Given the description of an element on the screen output the (x, y) to click on. 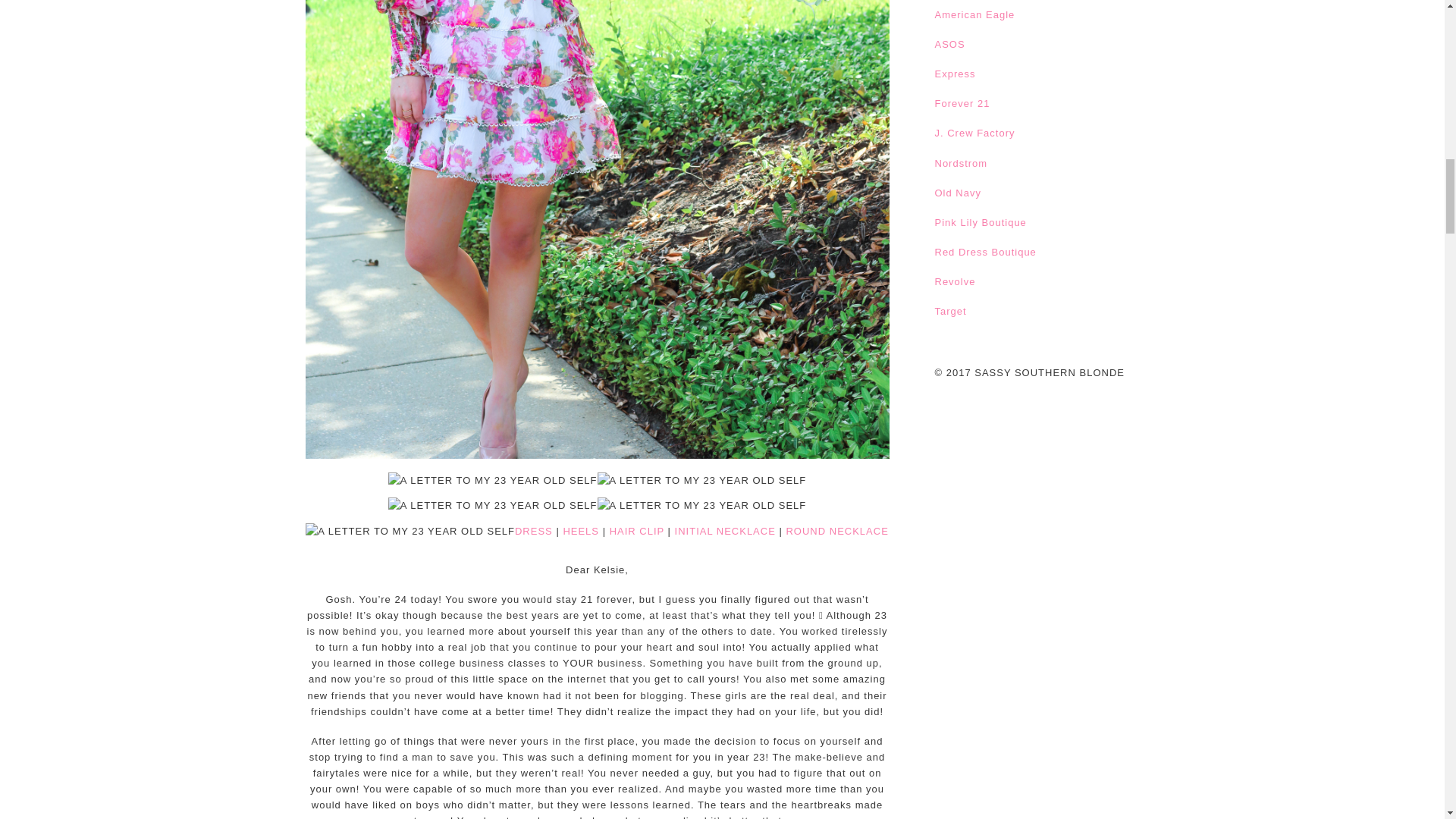
HEELS (580, 531)
HAIR CLIP (636, 531)
DRESS (534, 531)
ROUND NECKLACE (837, 531)
INITIAL NECKLACE (725, 531)
